Given the description of an element on the screen output the (x, y) to click on. 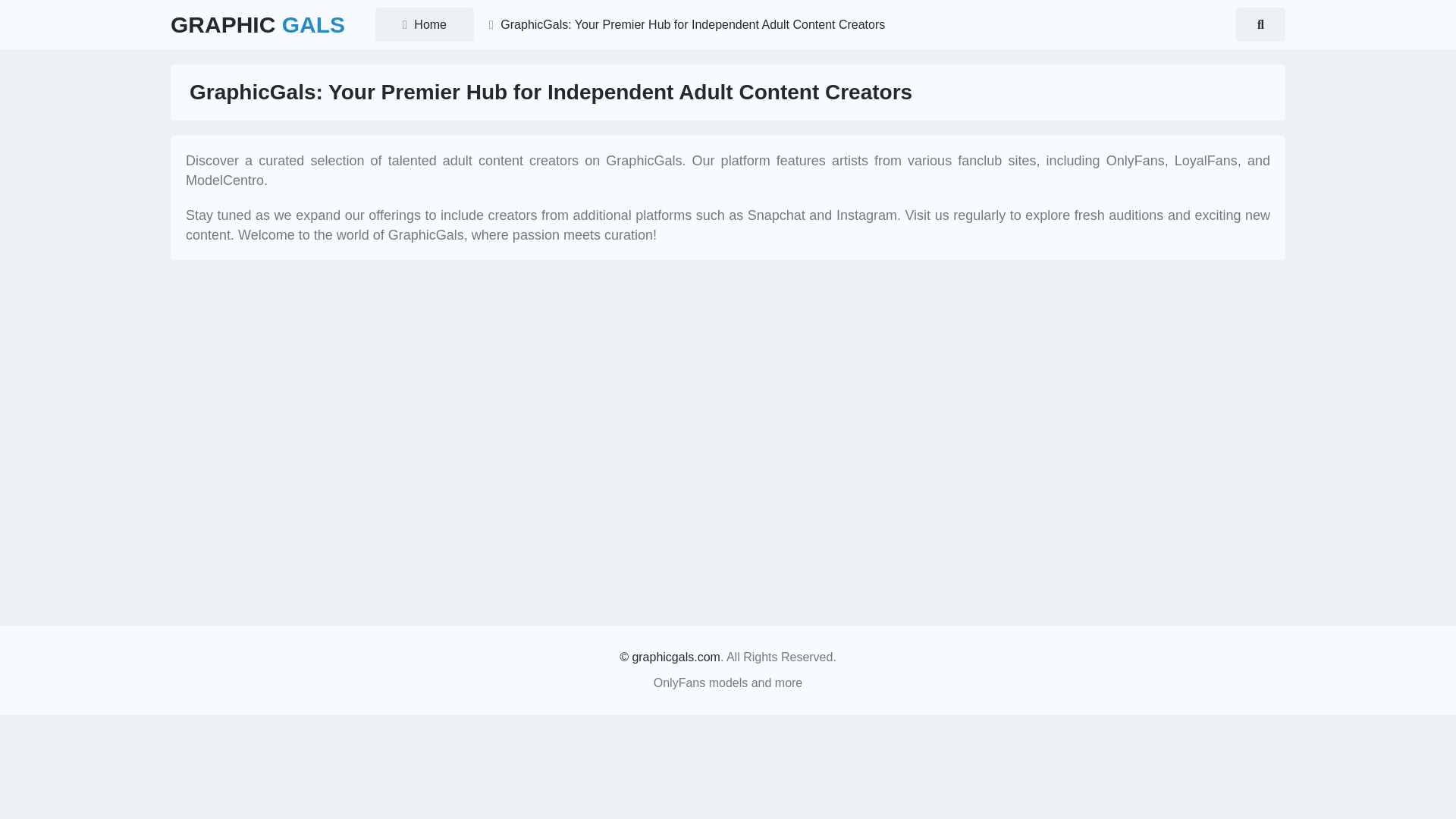
GRAPHIC GALS (257, 24)
Home (424, 24)
